Given the description of an element on the screen output the (x, y) to click on. 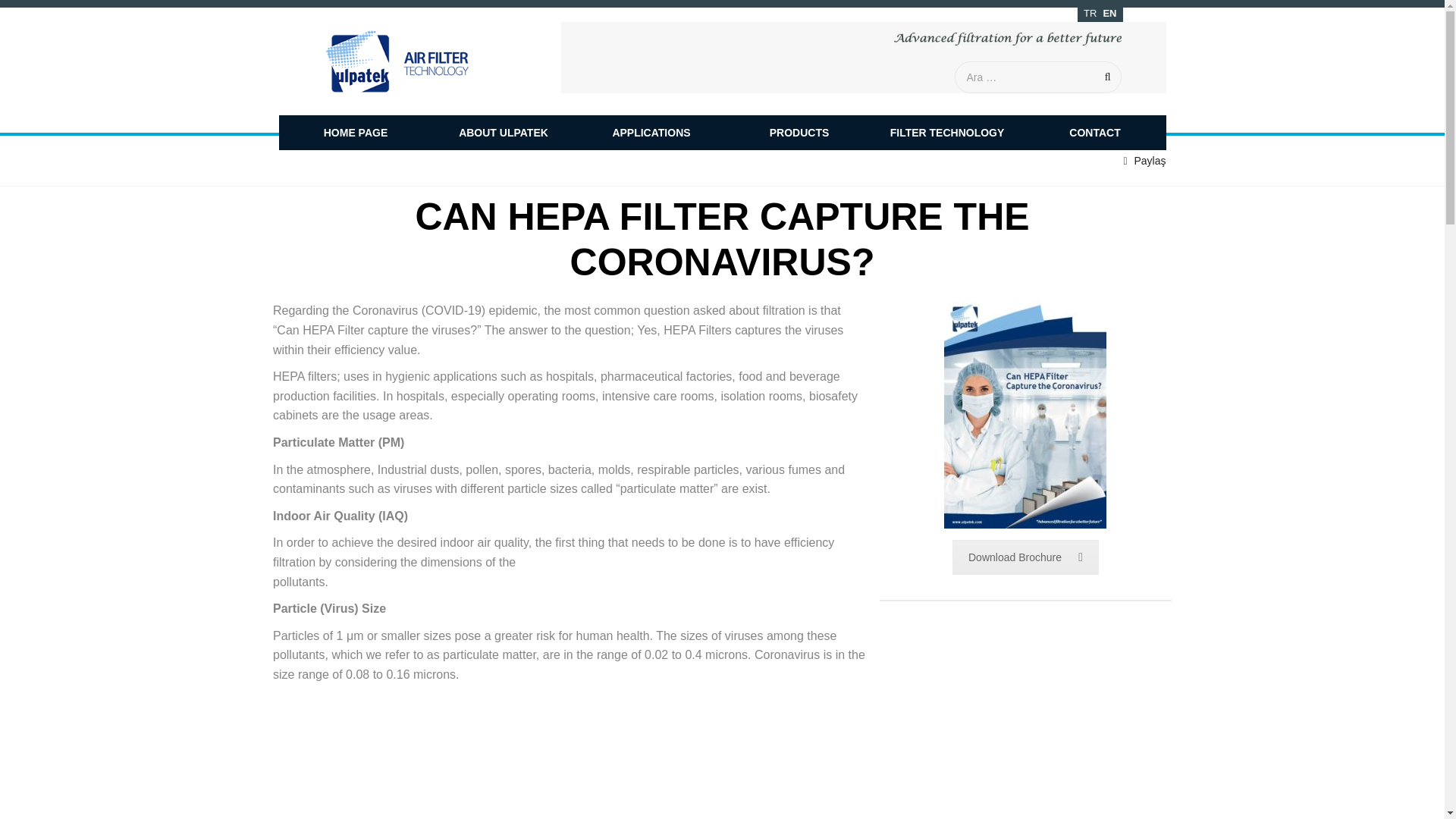
APPLICATIONS (650, 132)
EN (1109, 12)
Ara (1106, 75)
PRODUCTS (799, 132)
FILTER TECHNOLOGY (946, 132)
TR (1089, 12)
ABOUT ULPATEK (503, 132)
HOME PAGE (355, 132)
Download Brochure (1025, 556)
CONTACT (1094, 132)
